Given the description of an element on the screen output the (x, y) to click on. 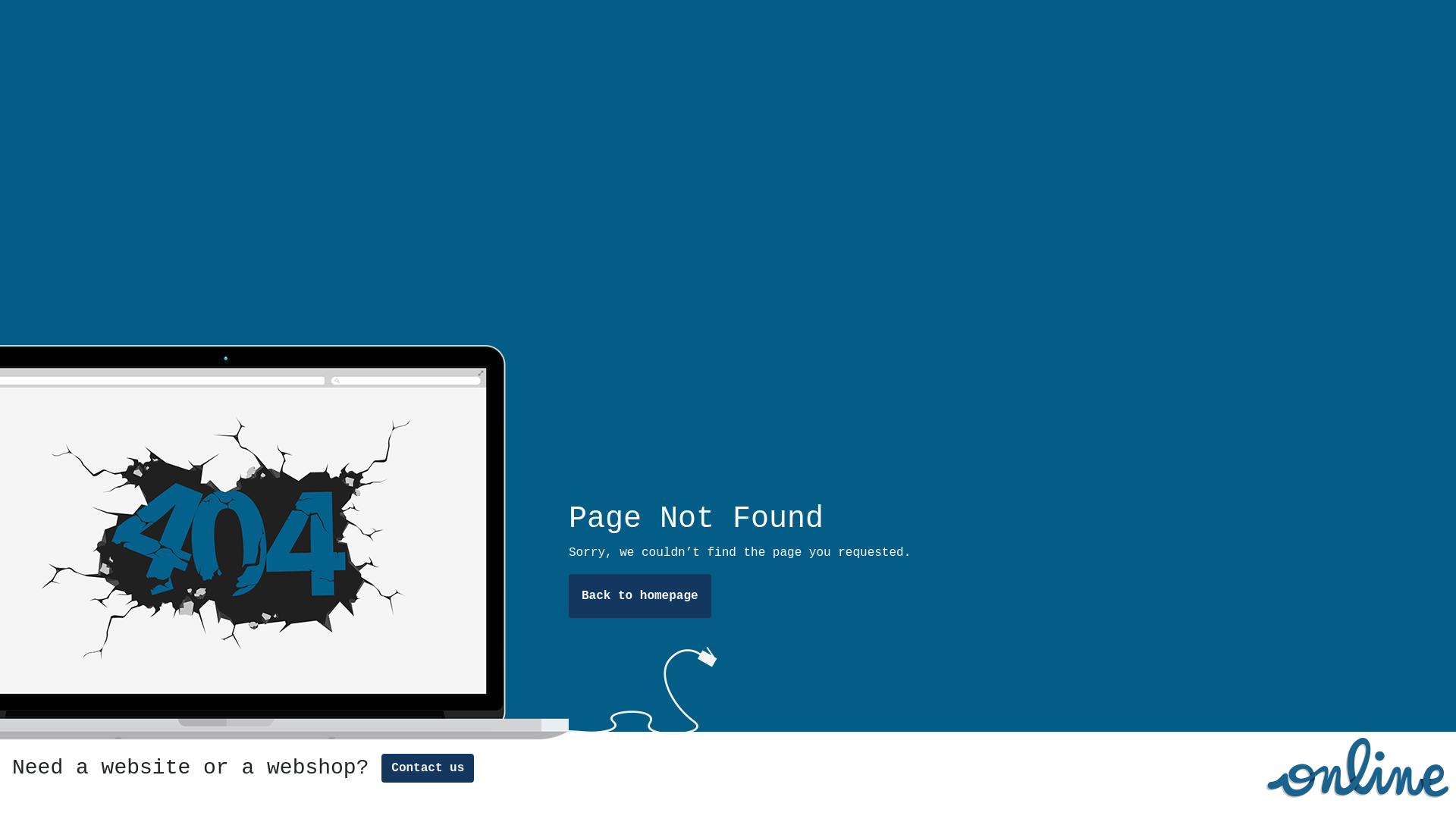
Back to homepage Element type: text (639, 596)
Contact us Element type: text (427, 767)
